Given the description of an element on the screen output the (x, y) to click on. 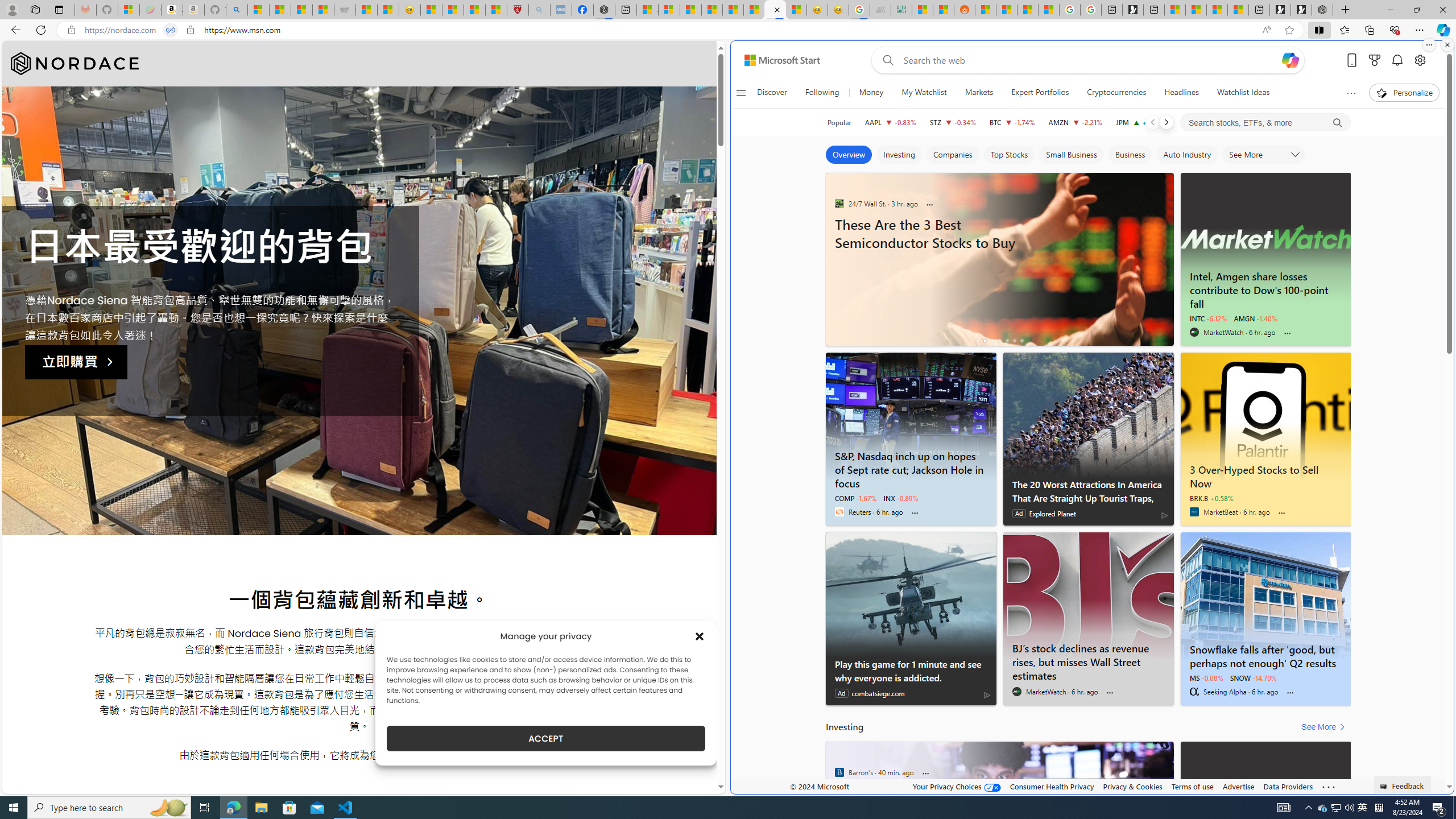
COMP -1.67% (855, 497)
Investing (898, 154)
14 Common Myths Debunked By Scientific Facts (732, 9)
R******* | Trusted Community Engagement and Contributions (985, 9)
Play Free Online Games | Games from Microsoft Start (1300, 9)
Open settings (1420, 60)
Data Providers (1288, 786)
Expert Portfolios (1039, 92)
